Given the description of an element on the screen output the (x, y) to click on. 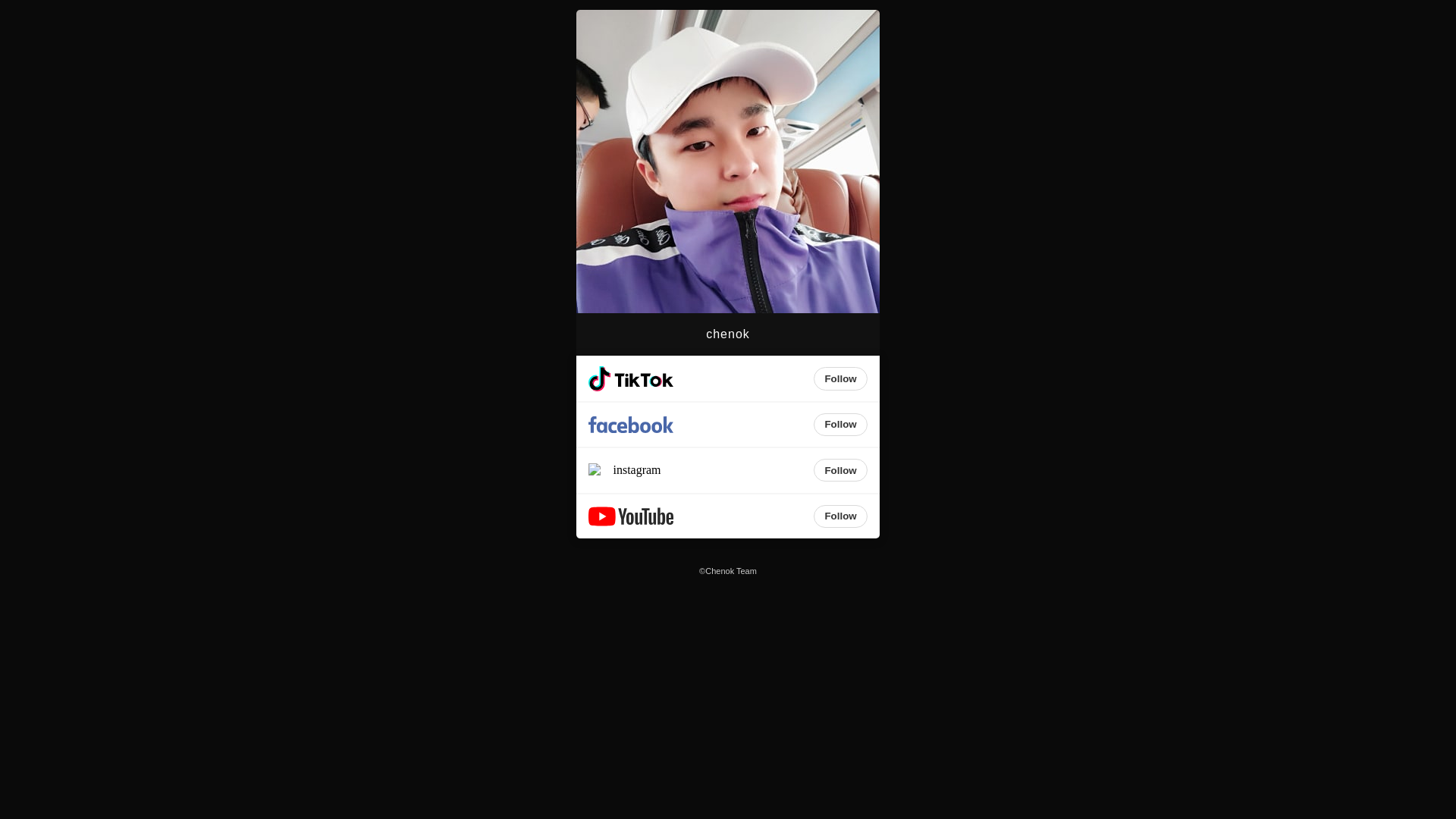
Follow Element type: text (840, 378)
Follow Element type: text (840, 516)
Follow Element type: text (840, 424)
Follow Element type: text (840, 469)
